Given the description of an element on the screen output the (x, y) to click on. 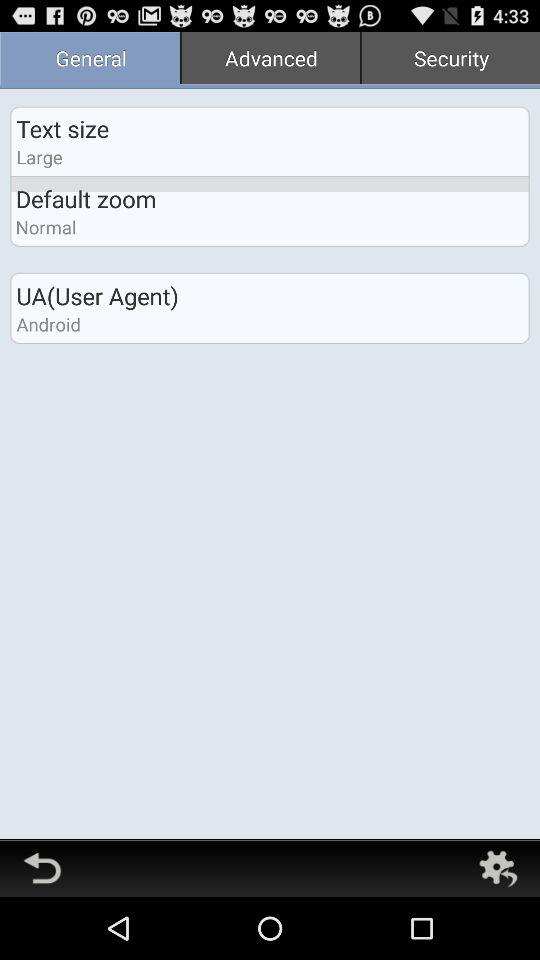
choose the app above ua(user agent) item (270, 60)
